Given the description of an element on the screen output the (x, y) to click on. 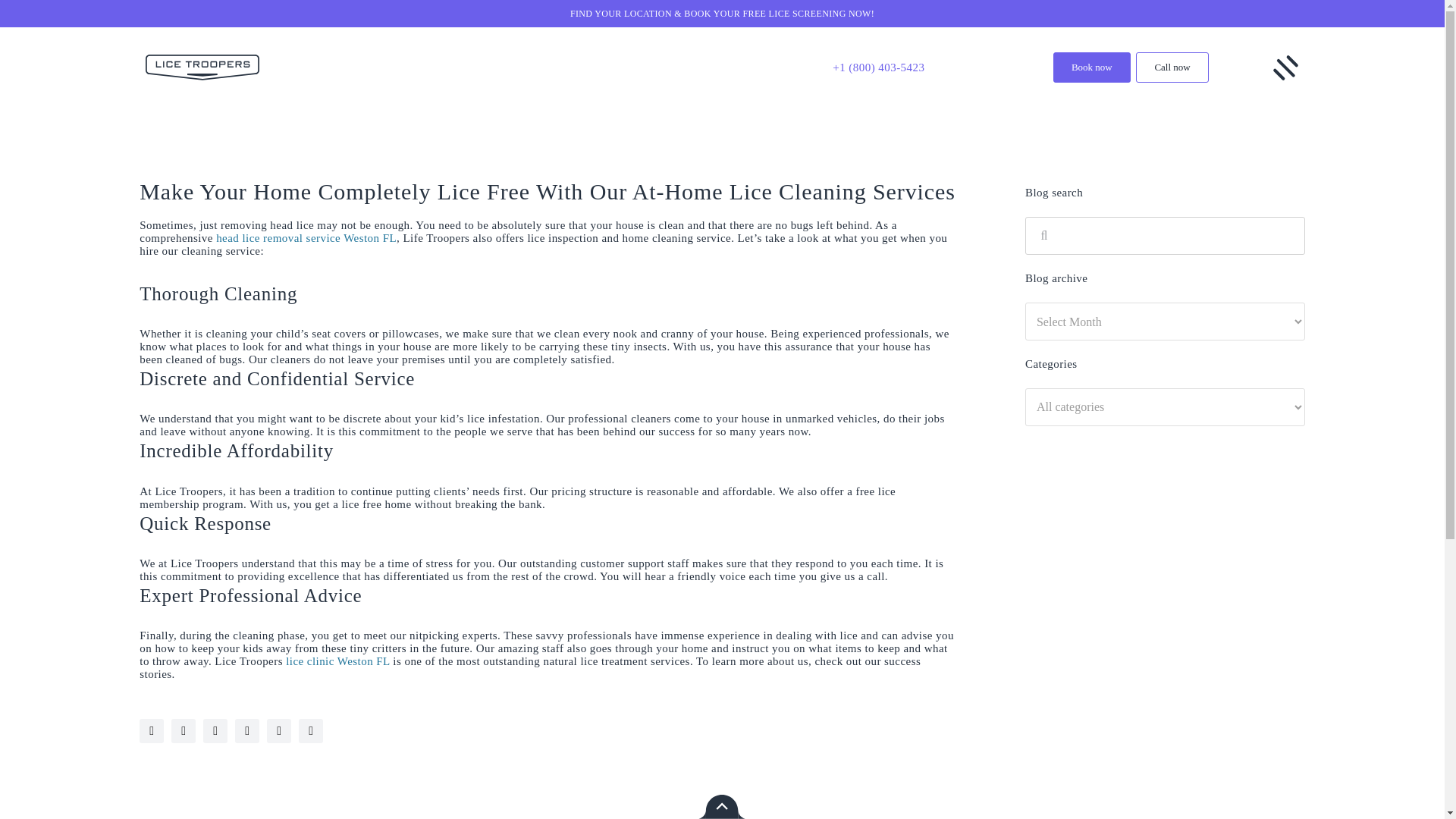
Facebook (246, 730)
Instagram (183, 730)
Group 4 (1285, 67)
Book now (1091, 67)
Read More... (547, 275)
Call now (1171, 67)
X (215, 730)
Pinterest (310, 730)
YouTube (151, 730)
LinkedIn (278, 730)
